Given the description of an element on the screen output the (x, y) to click on. 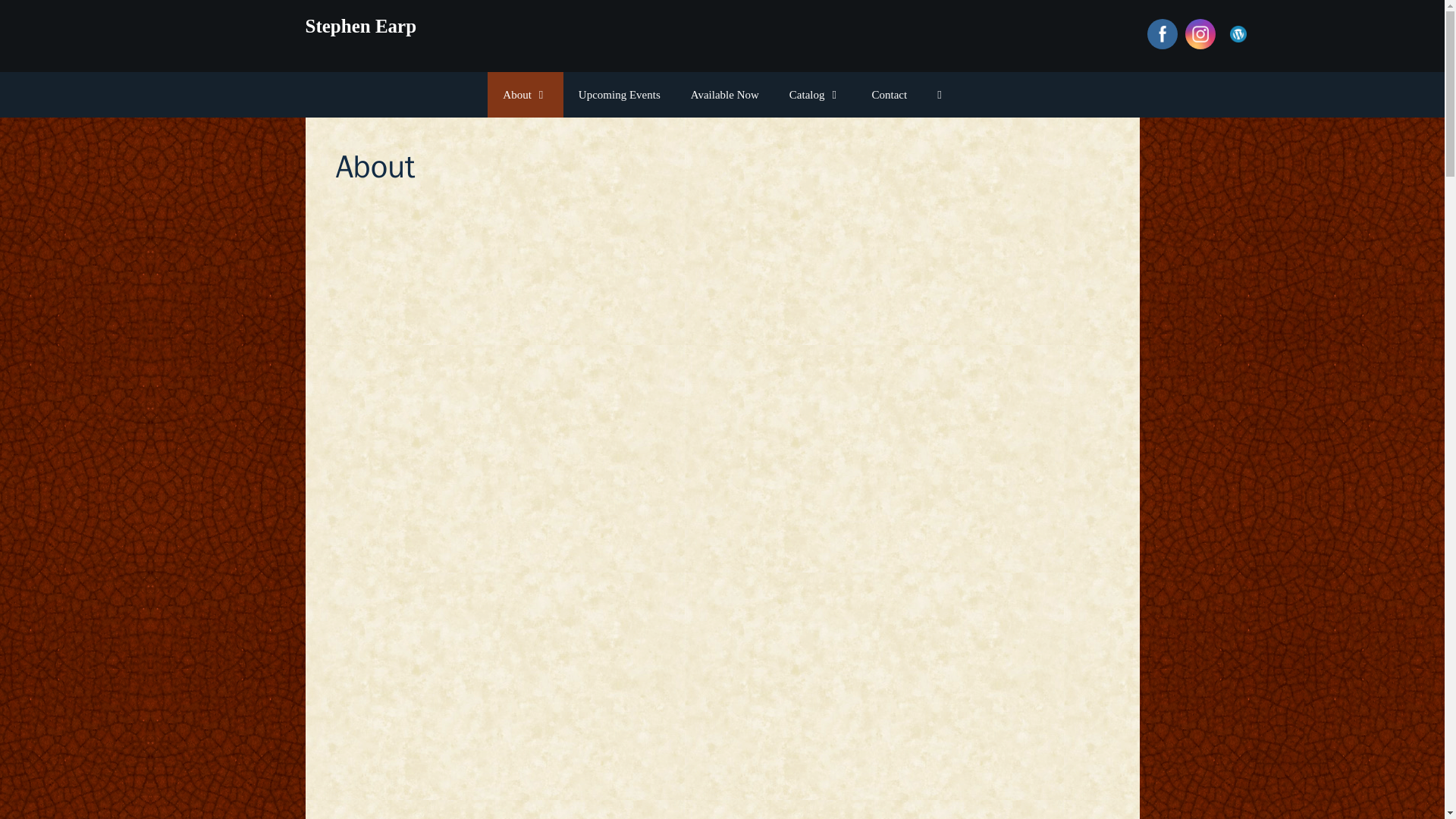
About (525, 94)
Upcoming Events (619, 94)
Available Now (724, 94)
Catalog (815, 94)
Contact (890, 94)
Facebook (1162, 33)
Stephen Earp (360, 25)
